Given the description of an element on the screen output the (x, y) to click on. 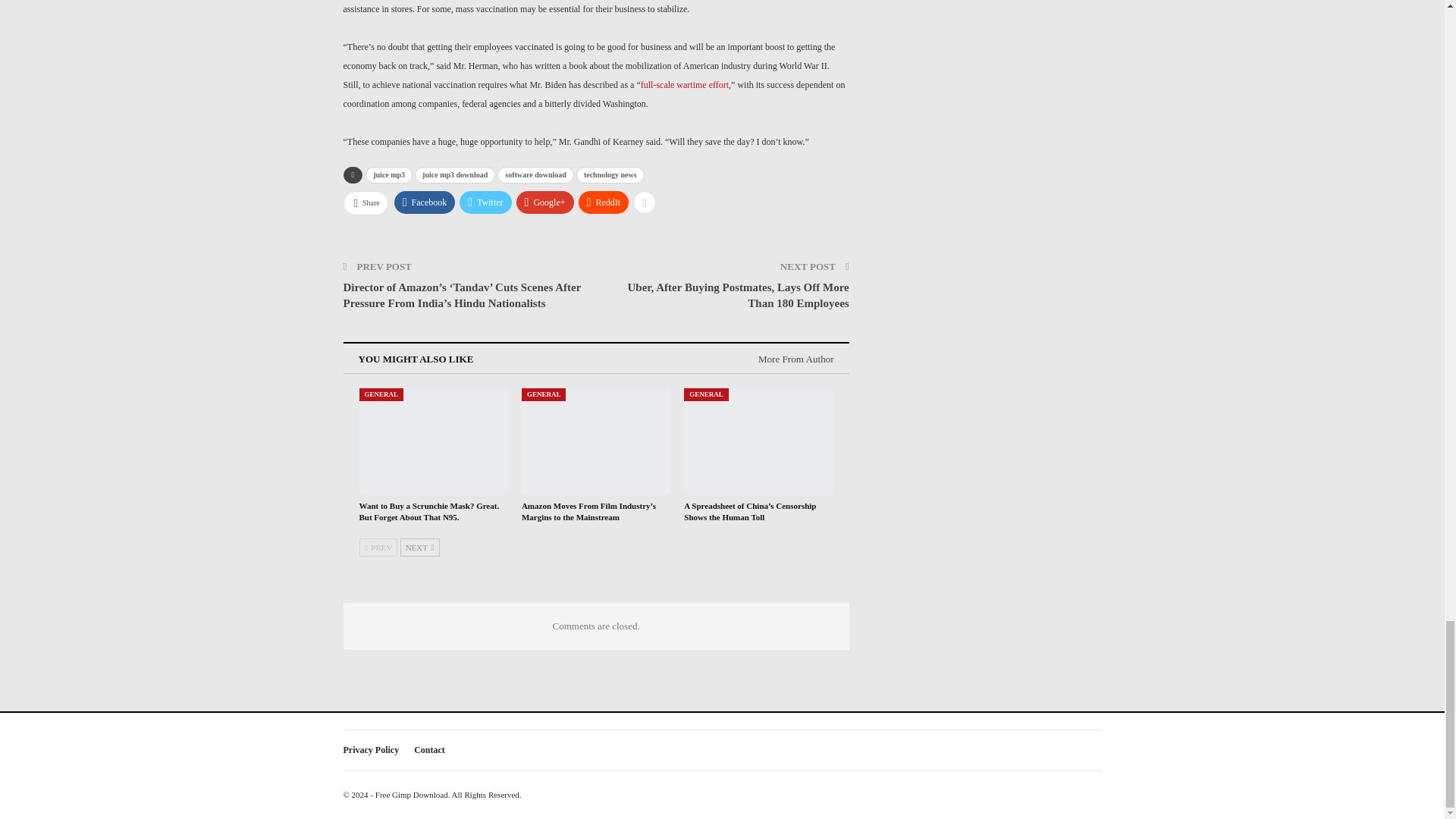
Facebook (424, 201)
technology news (610, 175)
ReddIt (603, 201)
software download (535, 175)
Twitter (485, 201)
juice mp3 download (454, 175)
full-scale wartime effort, (685, 84)
juice mp3 (388, 175)
